Given the description of an element on the screen output the (x, y) to click on. 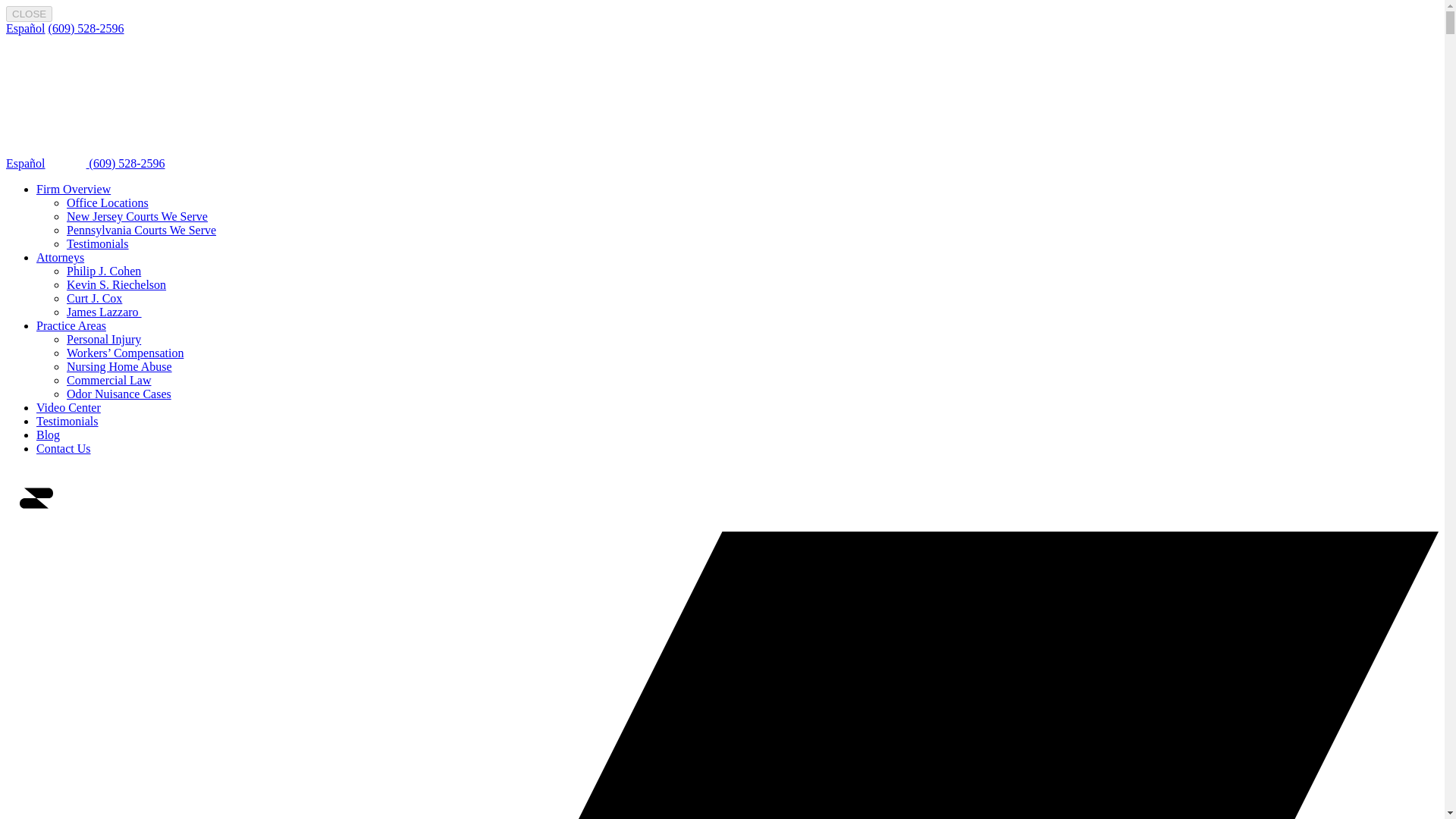
Contact Us (63, 448)
Commercial Law (108, 379)
Odor Nuisance Cases (118, 393)
Kevin S. Riechelson (115, 284)
Nursing Home Abuse (118, 366)
Curt J. Cox (94, 297)
Personal Injury (103, 338)
Testimonials (67, 420)
Attorneys (60, 256)
CLOSE (28, 13)
